Given the description of an element on the screen output the (x, y) to click on. 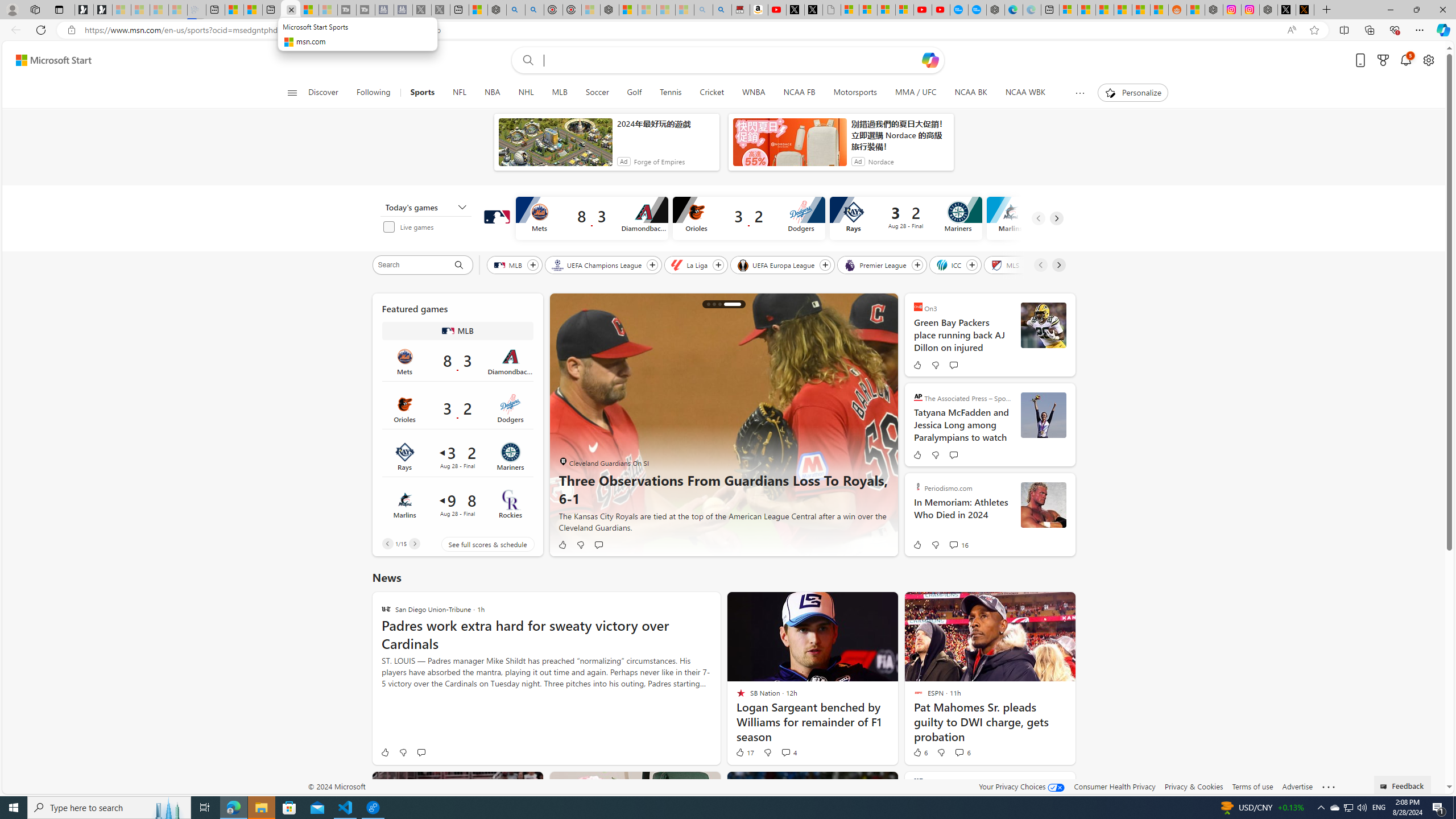
Skip to footer (46, 59)
MLB (448, 330)
Nordace (@NordaceOfficial) / X (1286, 9)
Privacy & Cookies (1193, 786)
NBA (492, 92)
Follow ICC (972, 265)
